Given the description of an element on the screen output the (x, y) to click on. 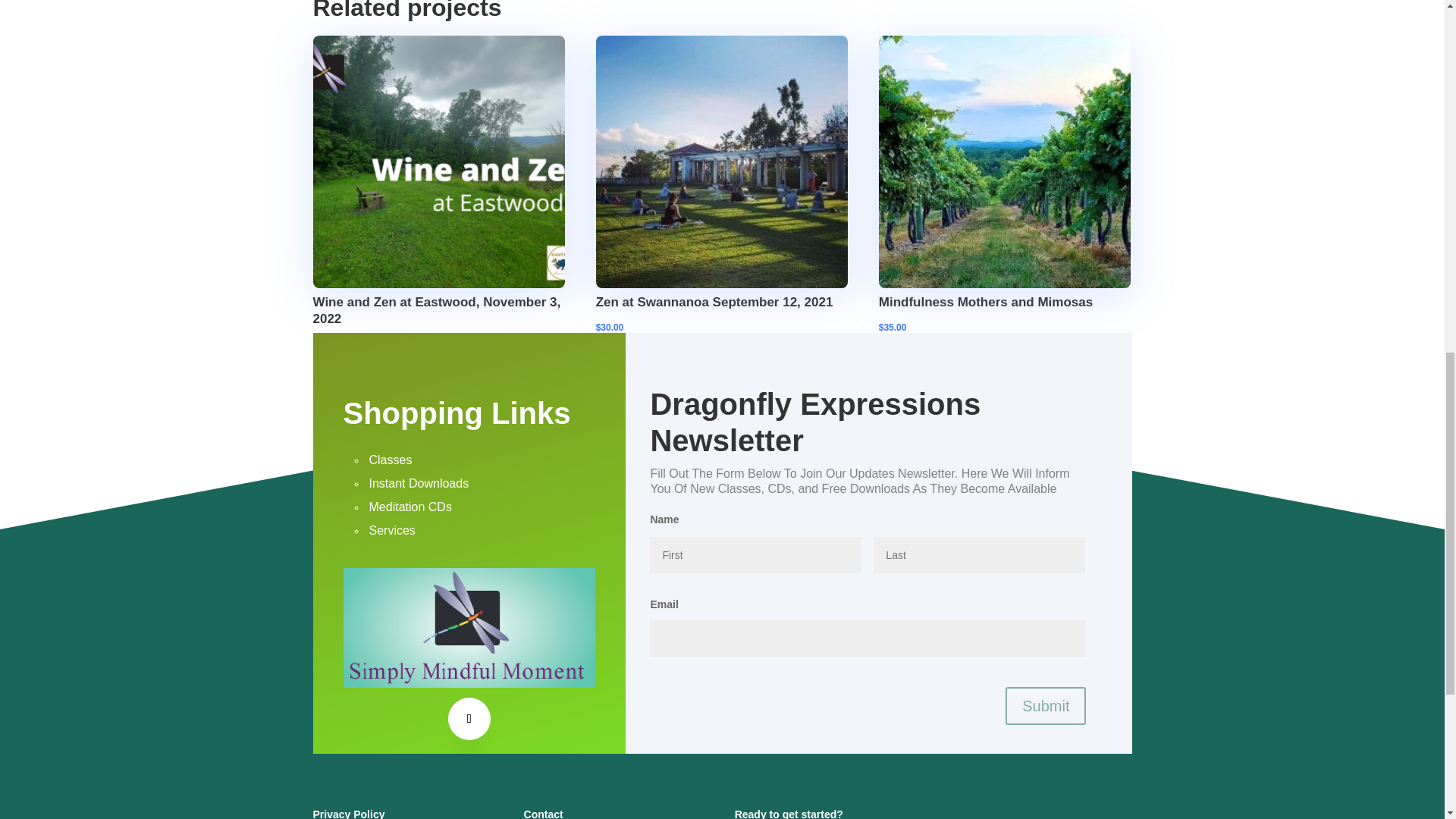
Follow on Facebook (469, 718)
Submit (1046, 705)
